Given the description of an element on the screen output the (x, y) to click on. 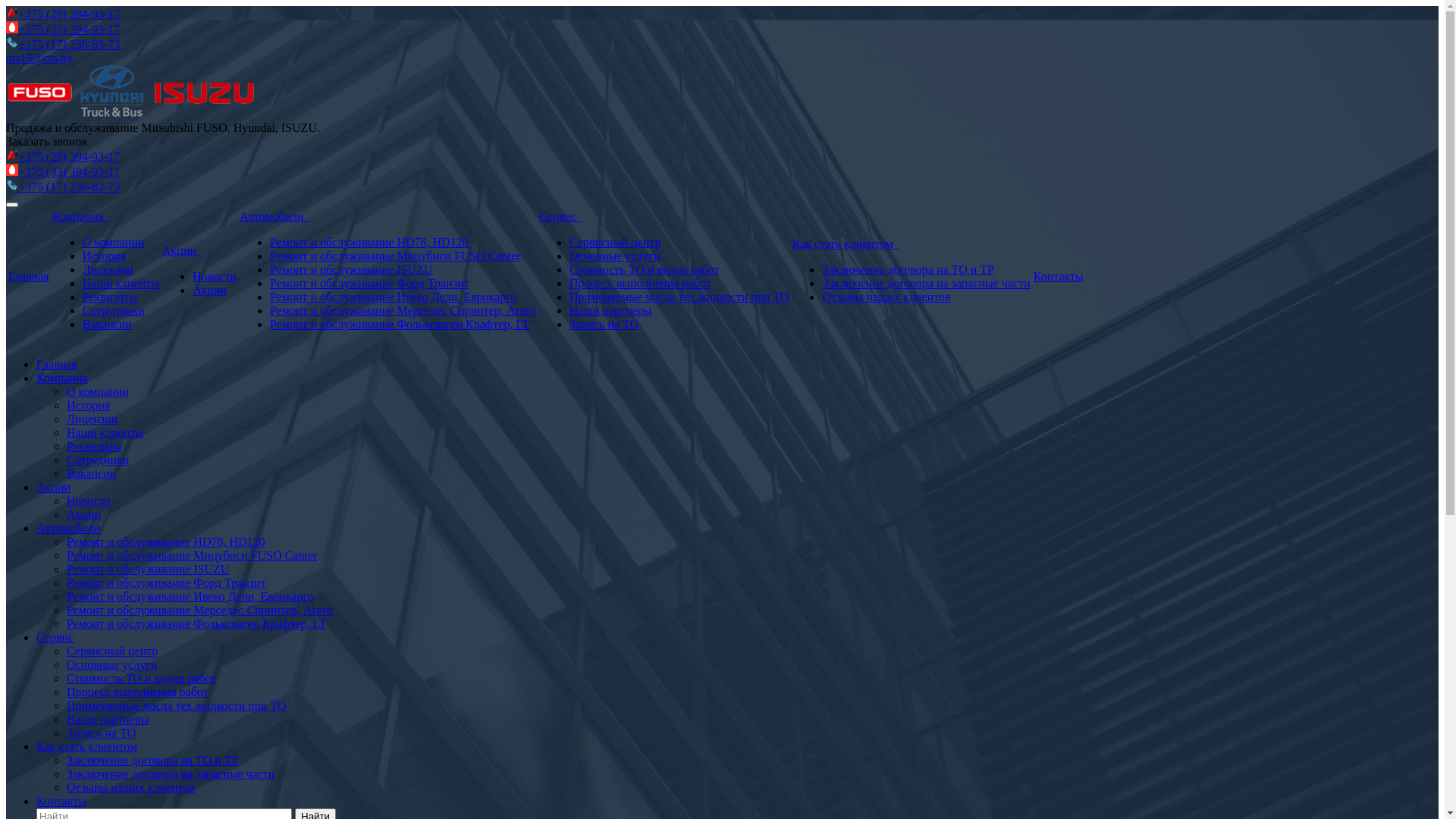
+375 (29) 394-93-17 Element type: text (68, 13)
+375 (17) 236-83-73 Element type: text (68, 43)
ots15@ots.by Element type: text (39, 57)
+375 (17) 236-83-73 Element type: text (68, 186)
+375 (33) 394-93-17 Element type: text (68, 171)
+375 (29) 394-93-17 Element type: text (68, 156)
+375 (33) 394-93-17 Element type: text (68, 28)
